Given the description of an element on the screen output the (x, y) to click on. 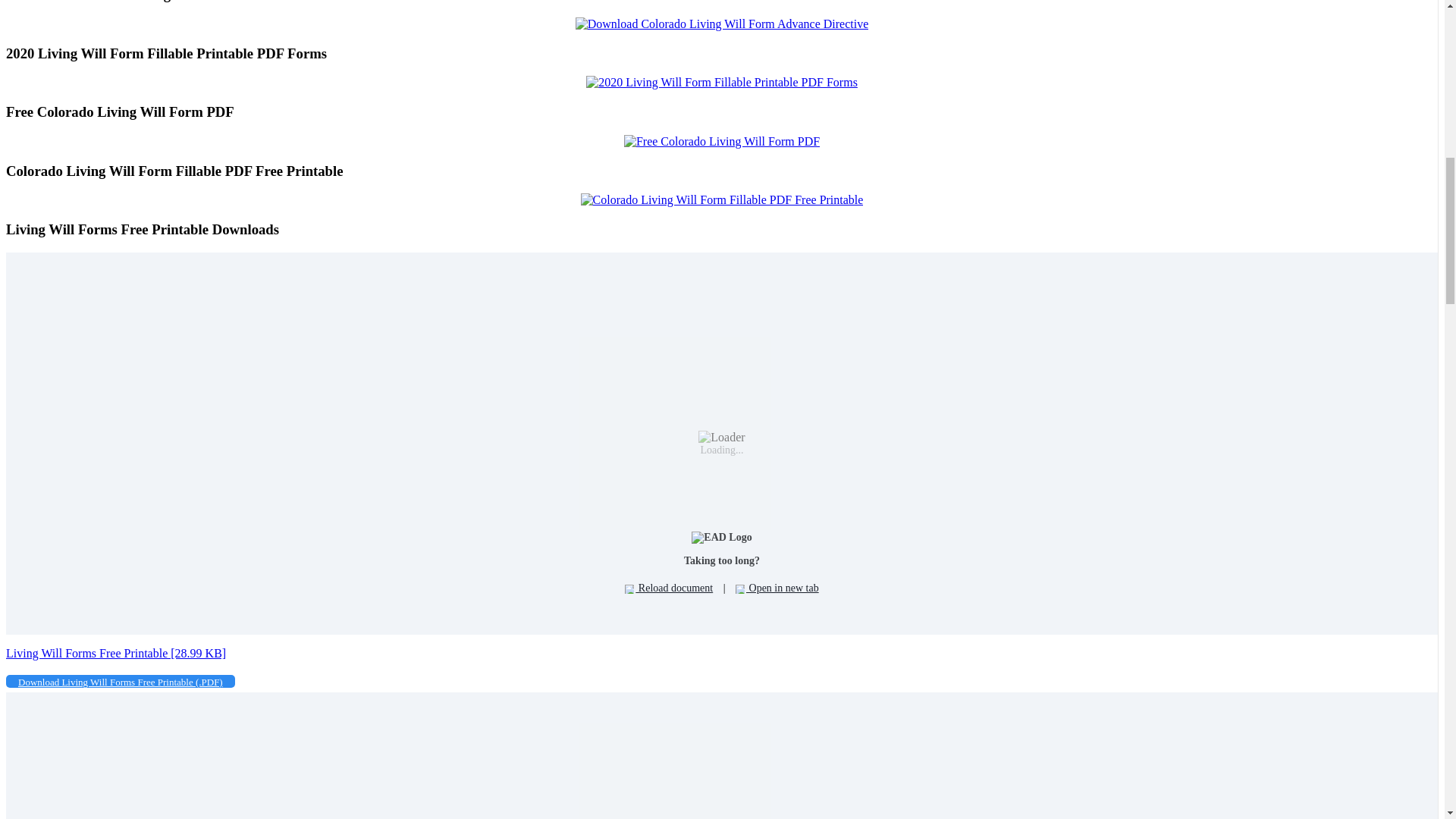
Open in new tab (776, 588)
colorado living will form fillable pdf free printable 2 (721, 200)
2020 living will form fillable printable pdf forms 77 (721, 82)
free colorado living will form pdf 1 (721, 141)
download colorado living will form advance directive 1 (722, 24)
